Given the description of an element on the screen output the (x, y) to click on. 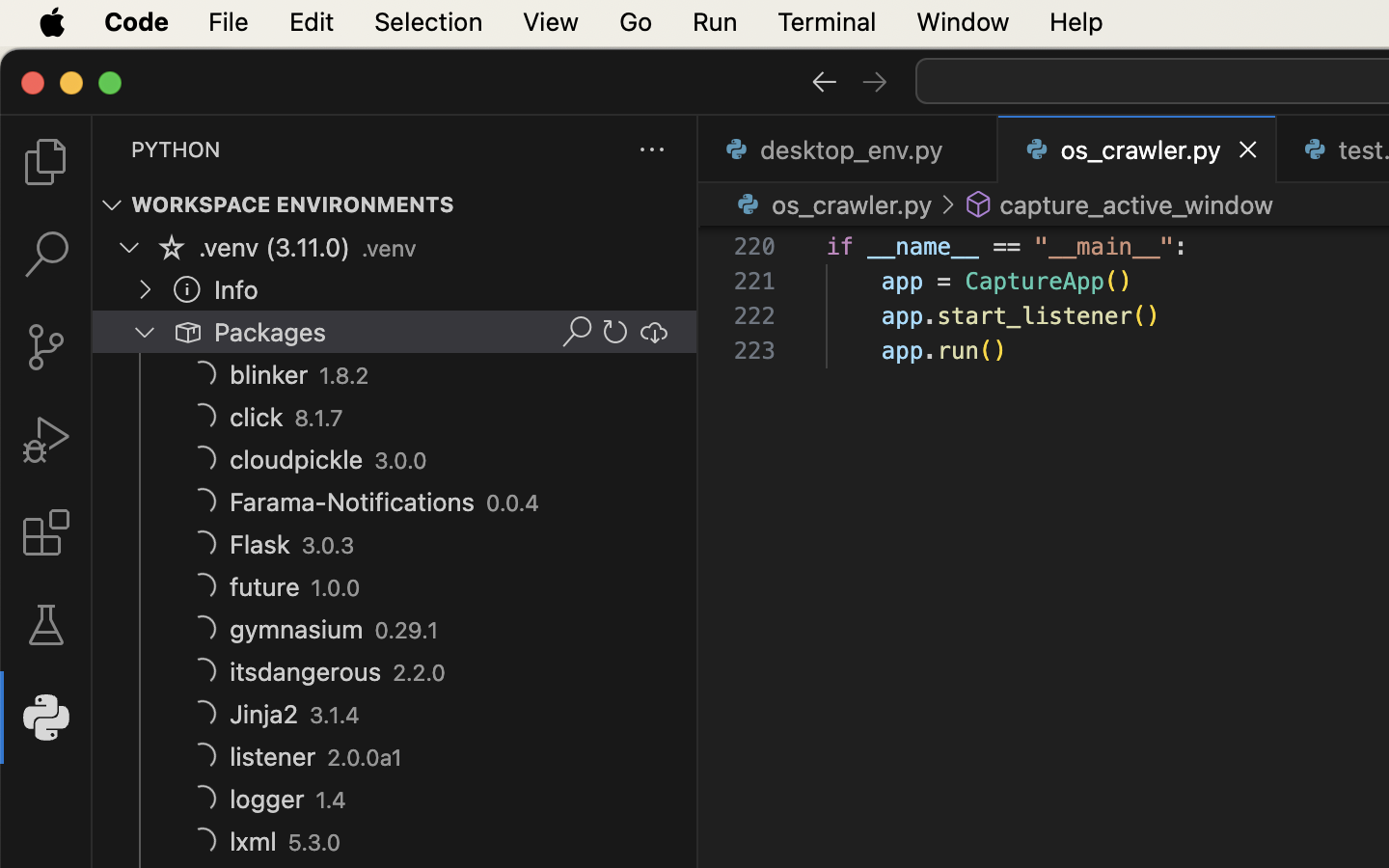
itsdangerous Element type: AXStaticText (305, 671)
logger Element type: AXStaticText (266, 799)
 Element type: AXButton (653, 331)
0  Element type: AXRadioButton (46, 254)
1 Element type: AXRadioButton (46, 717)
